Given the description of an element on the screen output the (x, y) to click on. 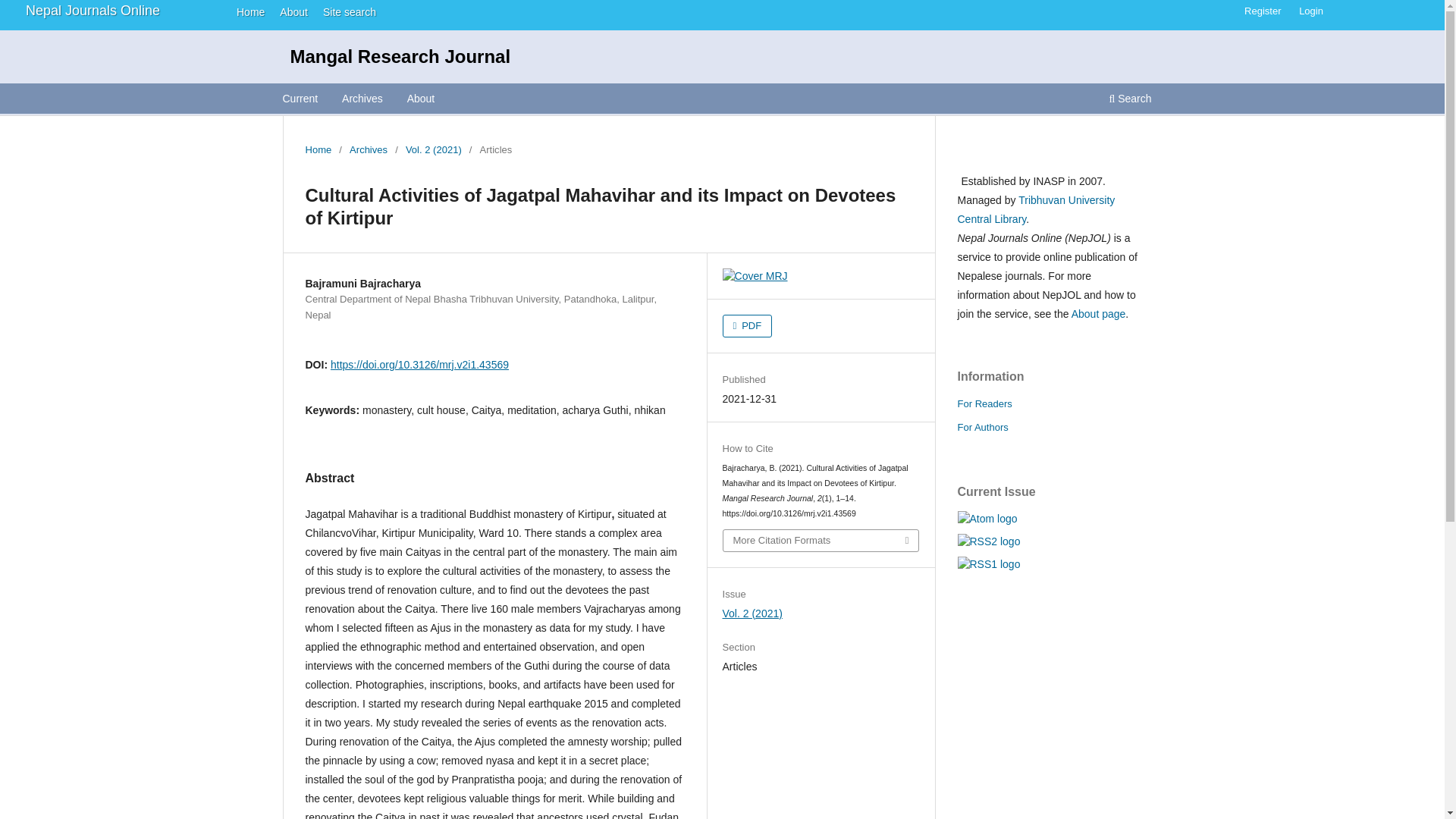
Archives (362, 99)
Archives (368, 150)
More Citation Formats (820, 540)
About (421, 99)
Home (245, 11)
Current (300, 99)
PDF (747, 325)
Site search (344, 11)
Register (1262, 11)
Search (1129, 99)
